Given the description of an element on the screen output the (x, y) to click on. 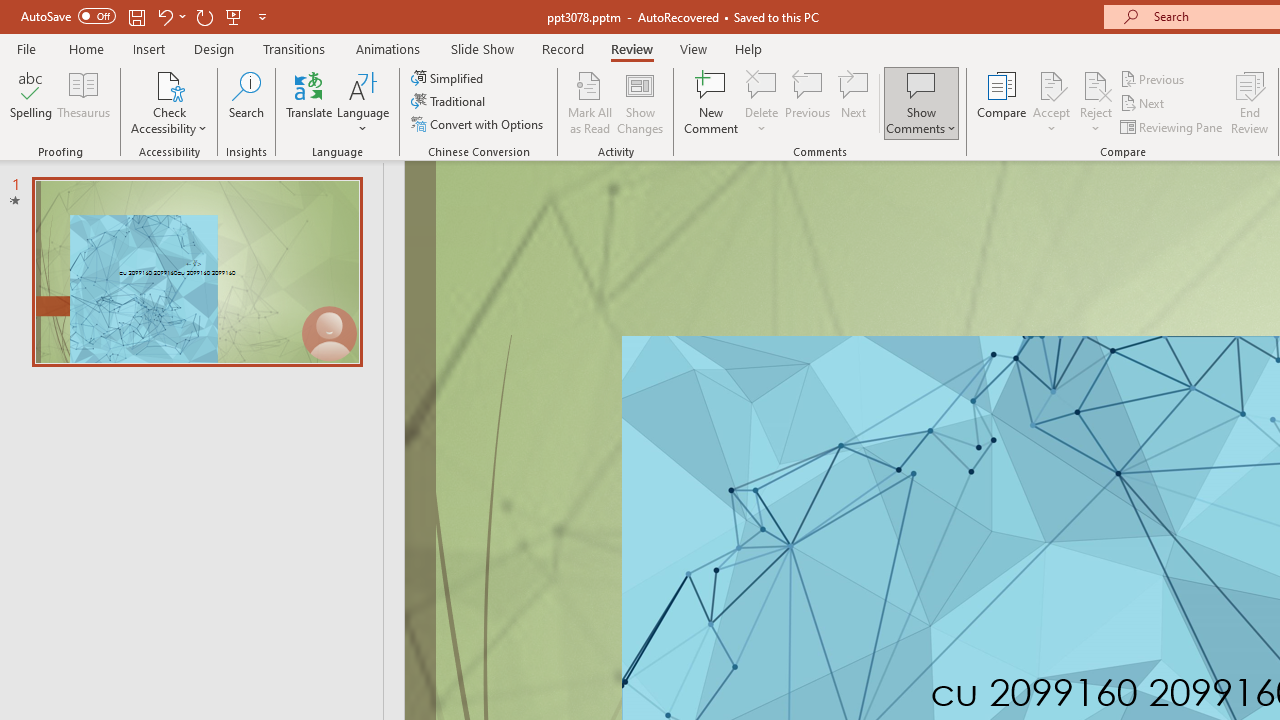
Convert with Options... (479, 124)
Previous (1153, 78)
Reject Change (1096, 84)
Next (1144, 103)
End Review (1249, 102)
Accept (1051, 102)
Mark All as Read (589, 102)
